Given the description of an element on the screen output the (x, y) to click on. 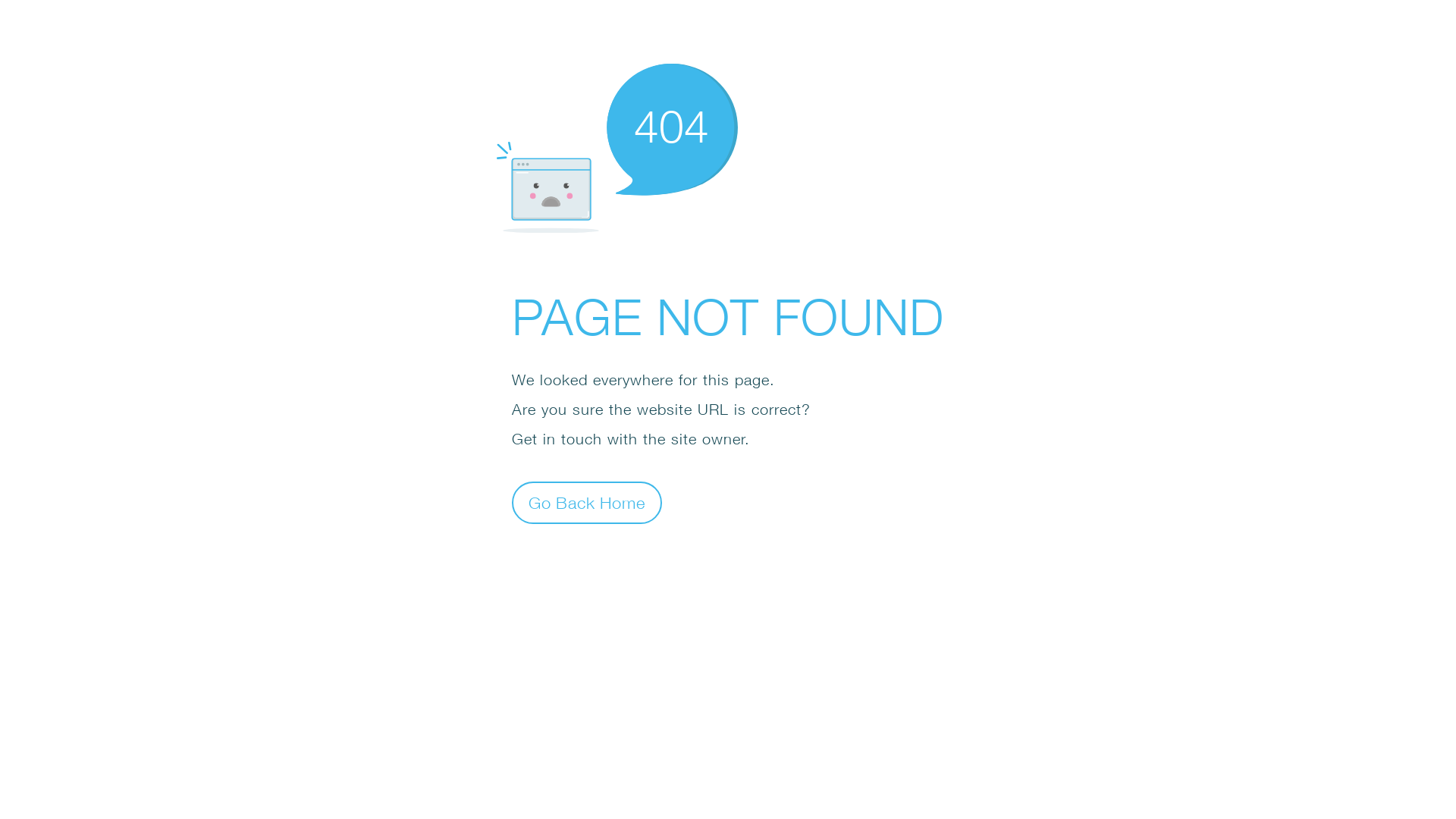
Go Back Home Element type: text (586, 502)
